Given the description of an element on the screen output the (x, y) to click on. 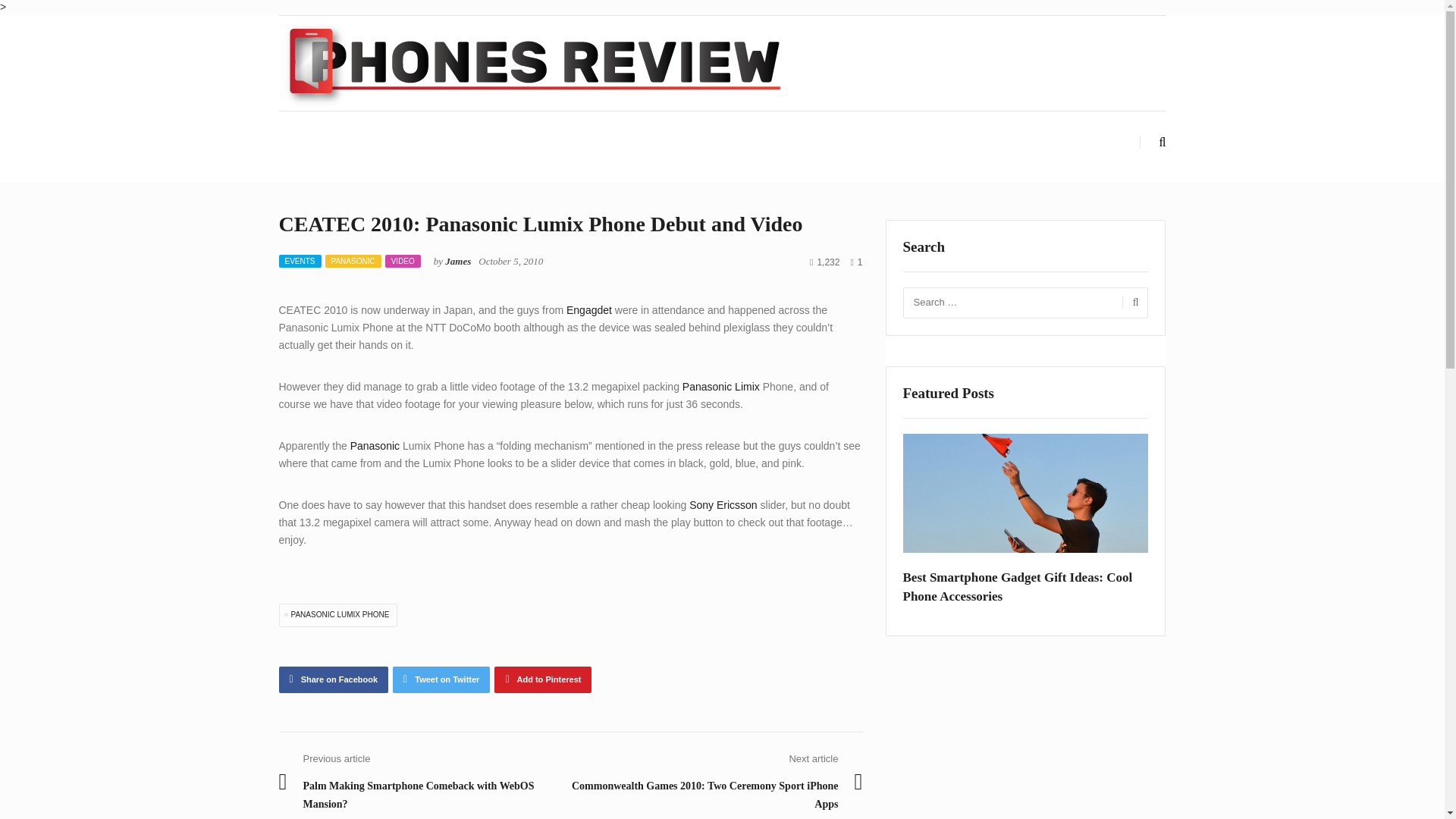
Search (1133, 302)
Engagdet (588, 309)
Search (1133, 302)
Search (1133, 302)
1 (855, 261)
James (457, 260)
Panasonic (374, 445)
PANASONIC LUMIX PHONE (338, 614)
Sony Ericsson (722, 504)
Add to Pinterest (543, 679)
